Given the description of an element on the screen output the (x, y) to click on. 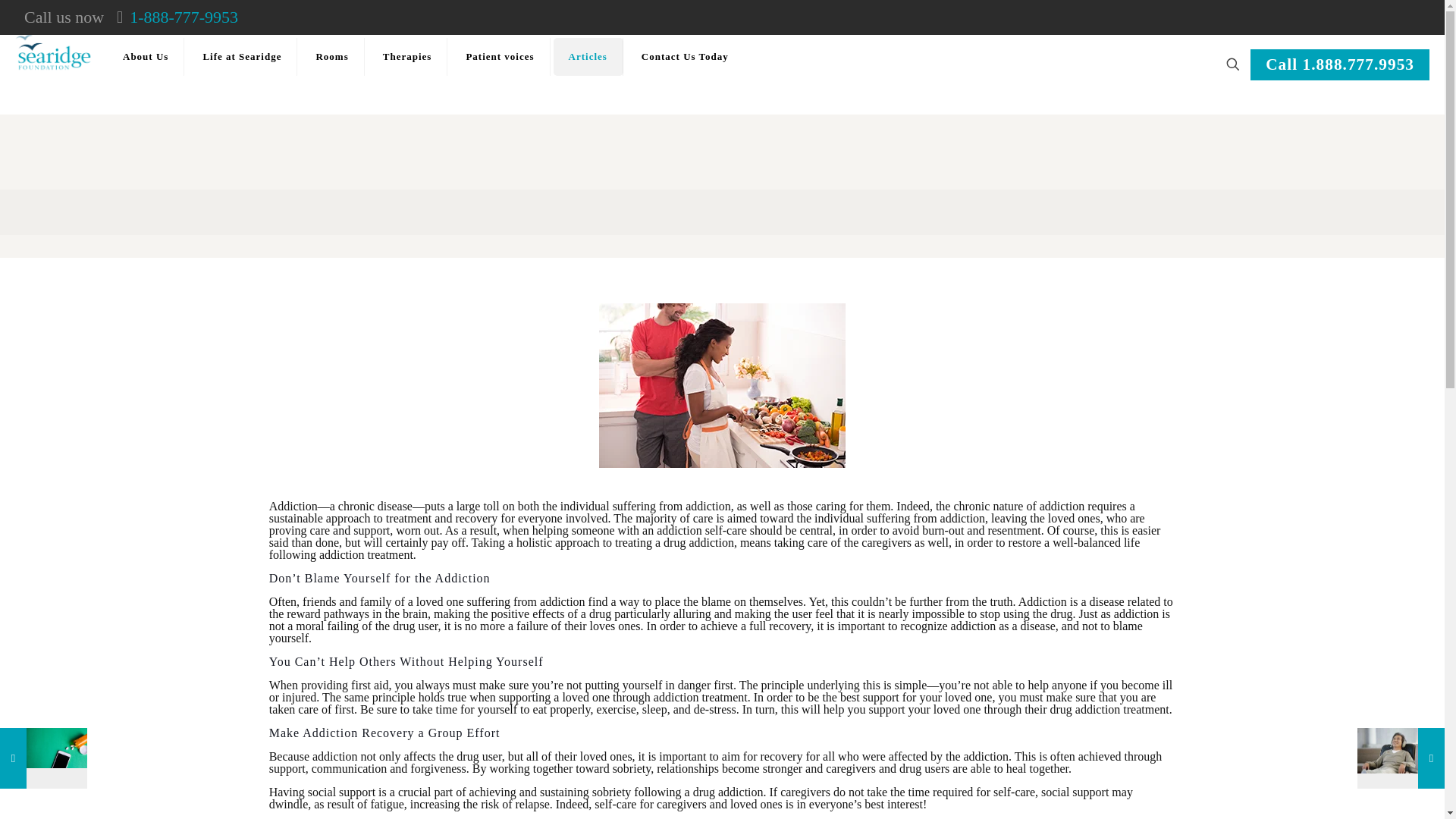
Contact Us Today (685, 56)
About Us (145, 56)
Searidge Drug Rehab (55, 49)
Life at Searidge (242, 56)
1-888-777-9953 (183, 16)
Articles (588, 56)
Patient voices (499, 56)
Rooms (331, 56)
Therapies (408, 56)
